Given the description of an element on the screen output the (x, y) to click on. 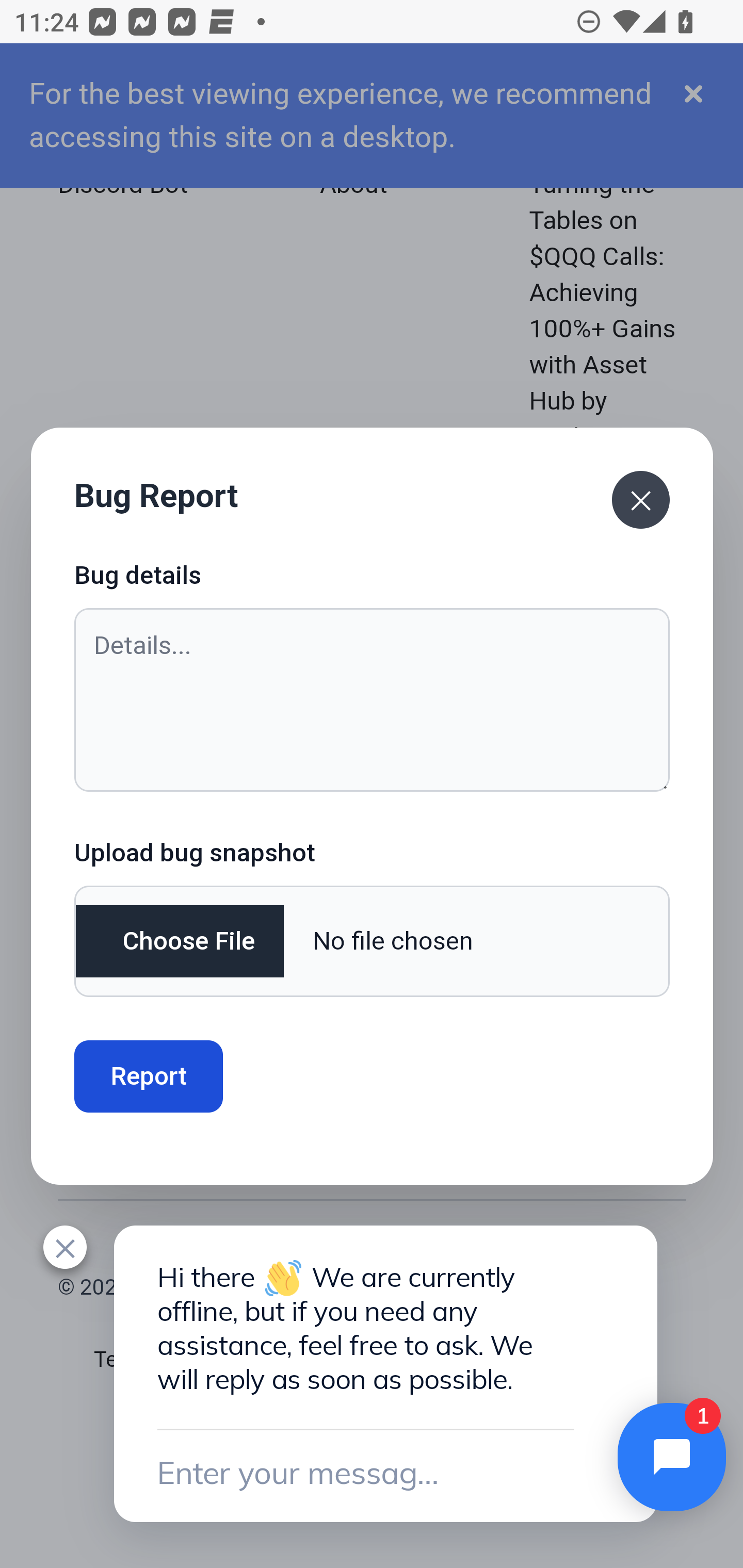
Upload bug snapshot: No file chosen (371, 941)
Report (148, 1076)
